Given the description of an element on the screen output the (x, y) to click on. 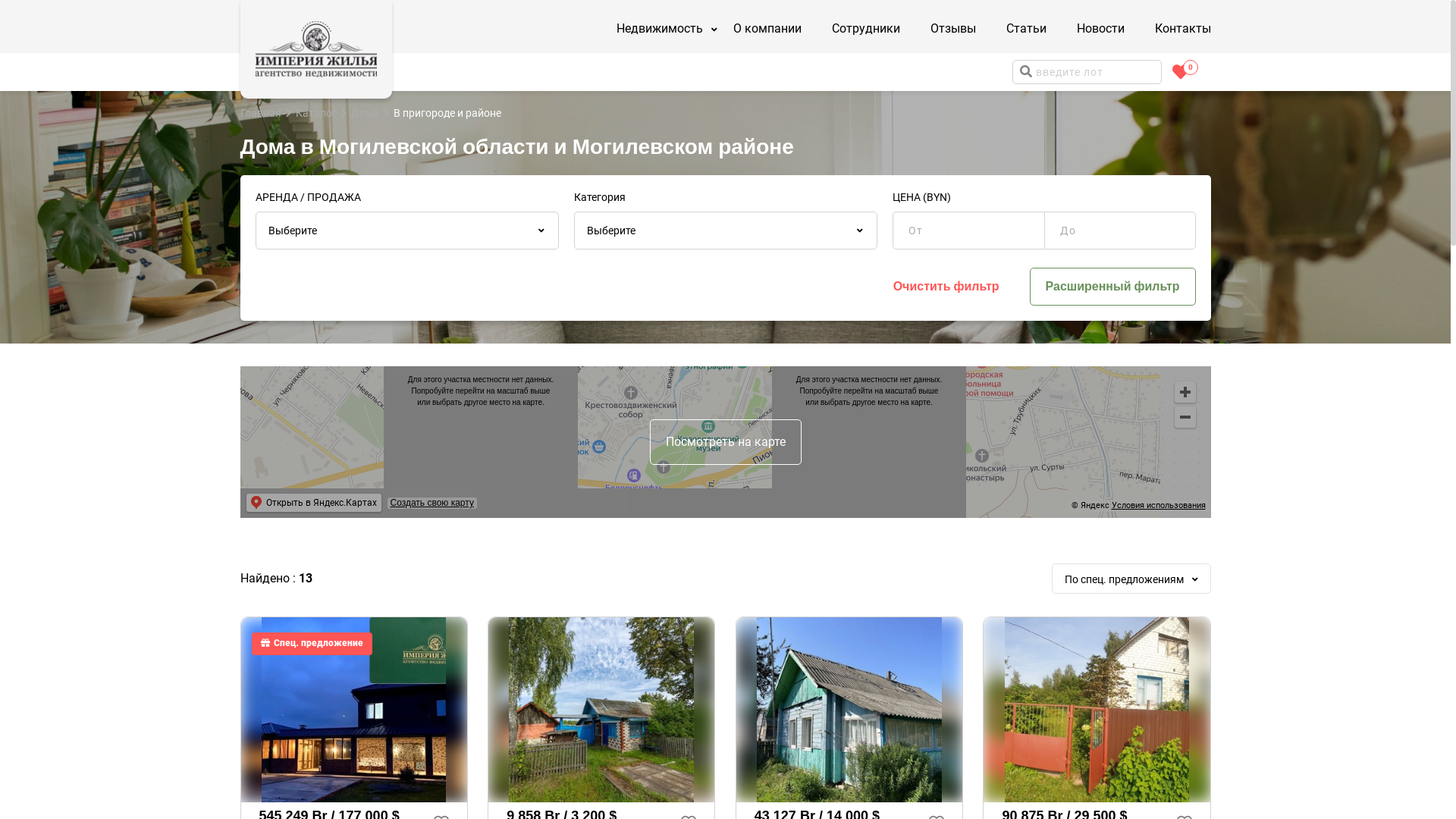
0 Element type: text (1180, 71)
